Given the description of an element on the screen output the (x, y) to click on. 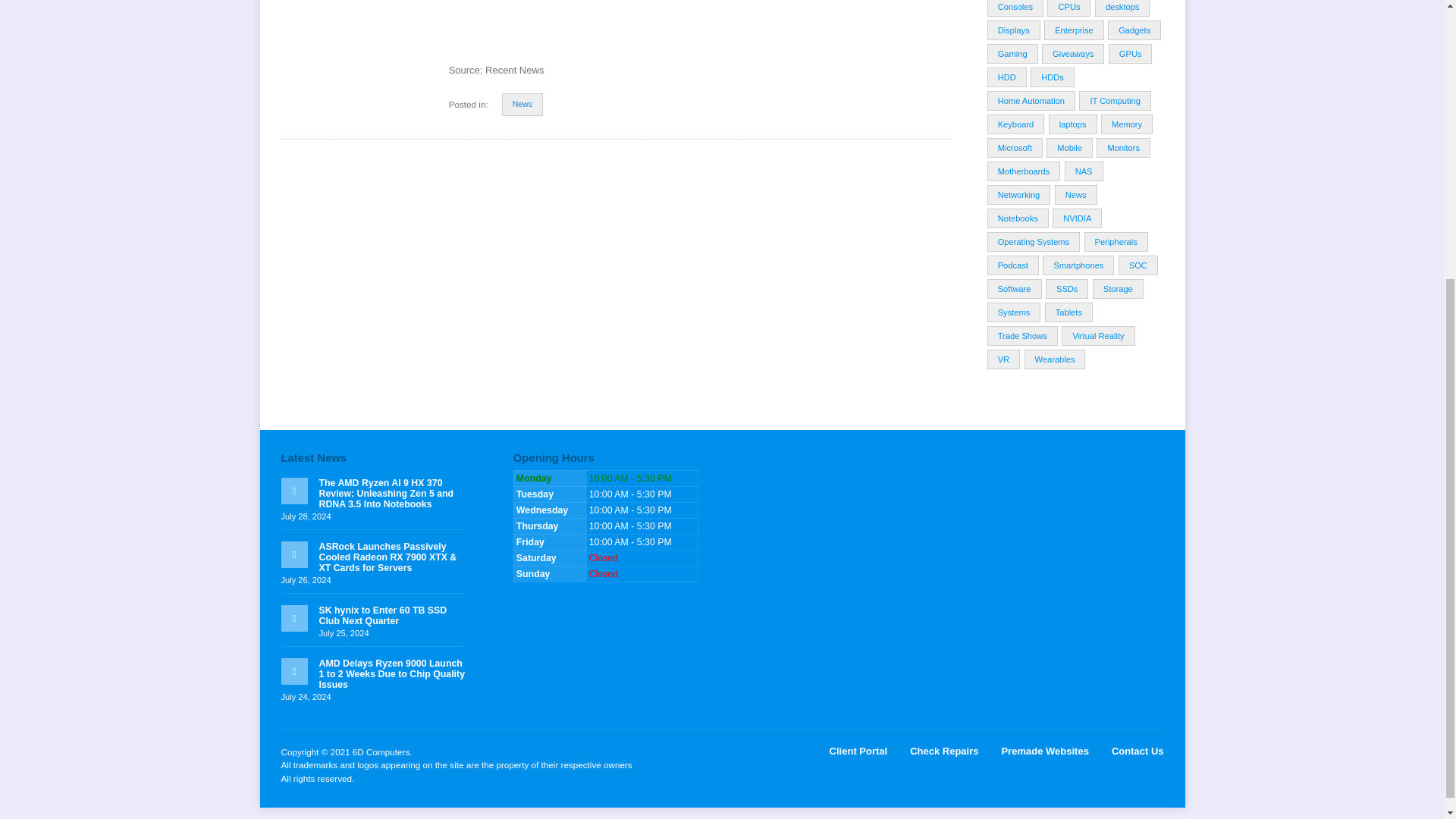
Consoles (1015, 8)
News (522, 104)
